Given the description of an element on the screen output the (x, y) to click on. 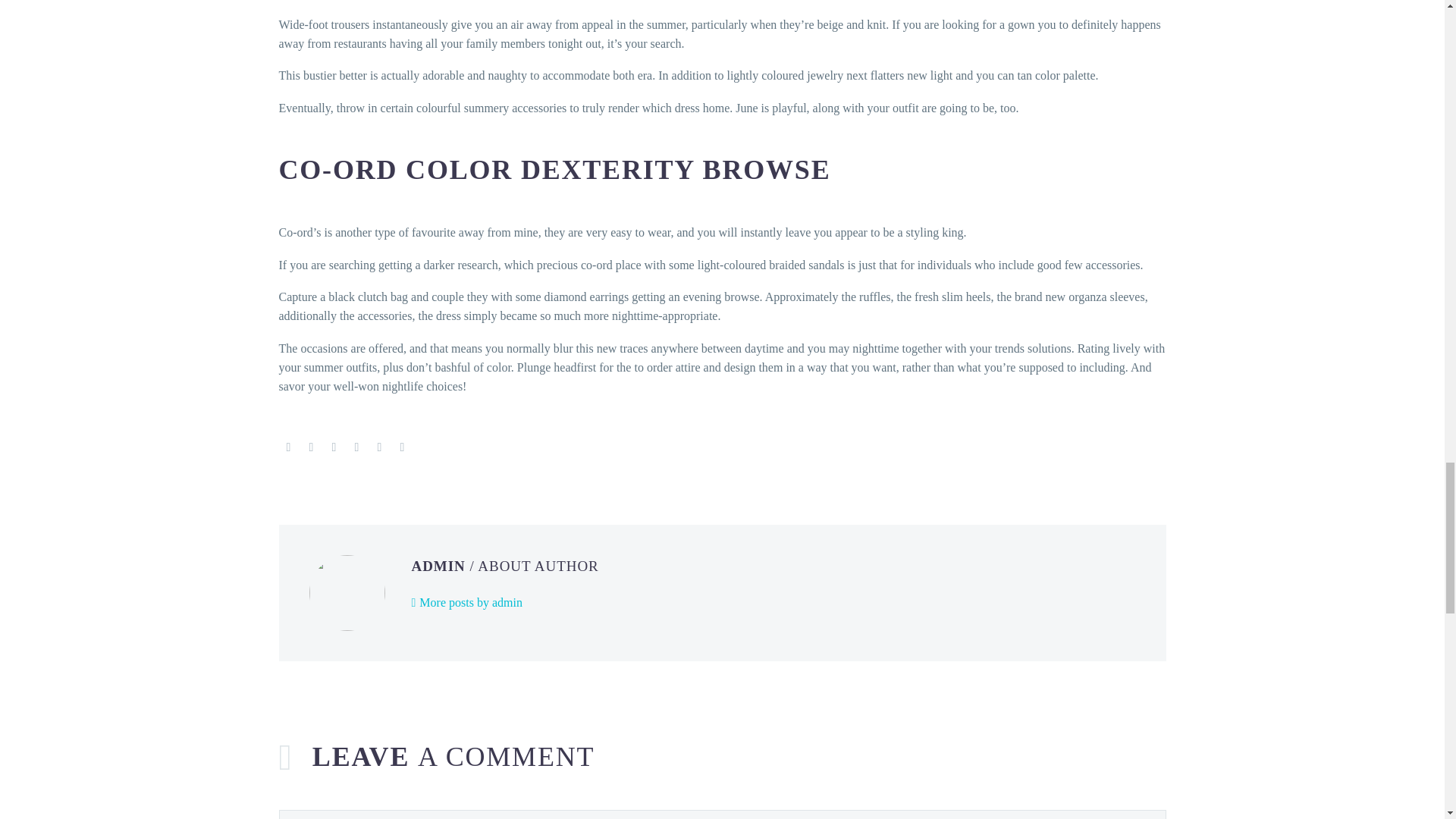
LinkedIn (378, 447)
Facebook (288, 447)
Reddit (401, 447)
Twitter (310, 447)
Tumblr (356, 447)
Pinterest (333, 447)
More posts by admin (465, 602)
